Given the description of an element on the screen output the (x, y) to click on. 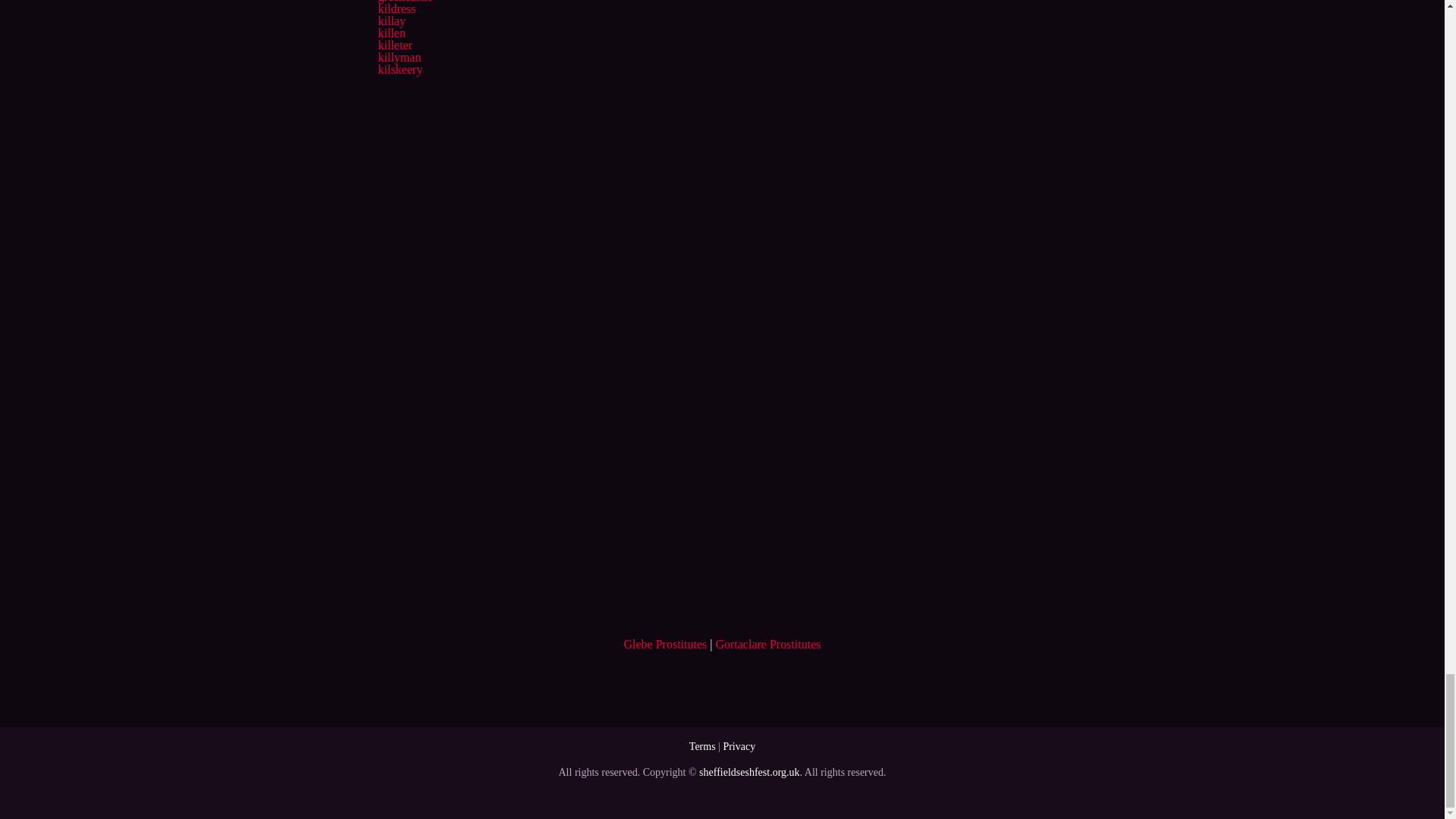
Terms (702, 746)
greencastle (404, 1)
Gortaclare Prostitutes (767, 644)
kildress (395, 8)
killeter (394, 44)
Privacy (738, 746)
killay (390, 20)
sheffieldseshfest.org.uk (748, 772)
Privacy (738, 746)
killen (390, 32)
Glebe Prostitutes (664, 644)
Terms (702, 746)
kilskeery (399, 69)
killyman (398, 56)
